Given the description of an element on the screen output the (x, y) to click on. 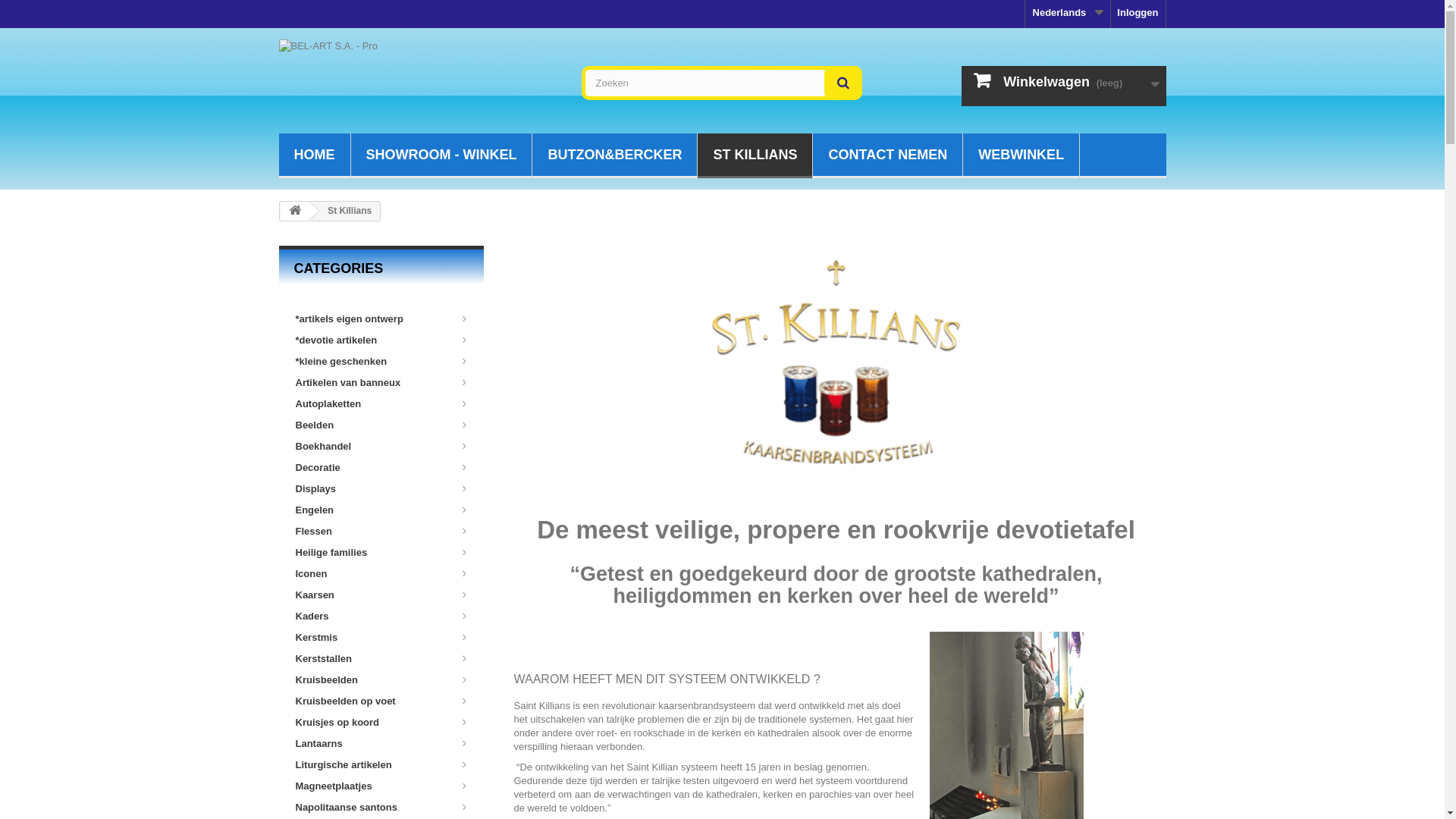
ST KILLIANS Element type: text (754, 155)
Autoplaketten Element type: text (378, 403)
Kruisbeelden op voet Element type: text (378, 700)
Liturgische artikelen Element type: text (378, 764)
Napolitaanse santons Element type: text (378, 806)
Engelen Element type: text (378, 509)
WEBWINKEL Element type: text (1021, 155)
Kerstmis Element type: text (378, 636)
Kruisjes op koord Element type: text (378, 721)
BEL-ART S.A. - Pro Element type: hover (419, 76)
Kaders Element type: text (378, 615)
Kaarsen Element type: text (378, 594)
Displays Element type: text (378, 487)
Decoratie Element type: text (378, 466)
Magneetplaatjes Element type: text (378, 785)
Kruisbeelden Element type: text (378, 679)
Terug naar Home Element type: hover (294, 210)
Iconen Element type: text (378, 572)
CONTACT NEMEN Element type: text (887, 155)
Lantaarns Element type: text (378, 742)
*devotie artikelen Element type: text (378, 339)
SHOWROOM - WINKEL Element type: text (440, 155)
Inloggen Element type: text (1137, 14)
Artikelen van banneux Element type: text (378, 381)
Flessen Element type: text (378, 530)
BUTZON&BERCKER Element type: text (614, 155)
Heilige families Element type: text (378, 551)
Winkelwagen (leeg) Element type: text (1063, 85)
Boekhandel Element type: text (378, 445)
*artikels eigen ontwerp Element type: text (378, 318)
Beelden Element type: text (378, 424)
Kerststallen Element type: text (378, 657)
HOME Element type: text (314, 155)
*kleine geschenken Element type: text (378, 360)
